Given the description of an element on the screen output the (x, y) to click on. 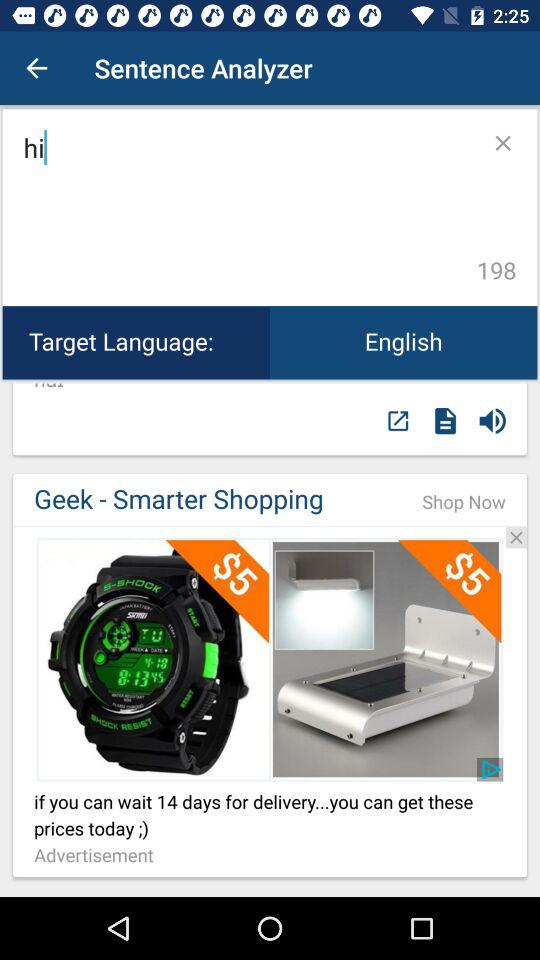
tap the icon at the top left corner (36, 68)
